Given the description of an element on the screen output the (x, y) to click on. 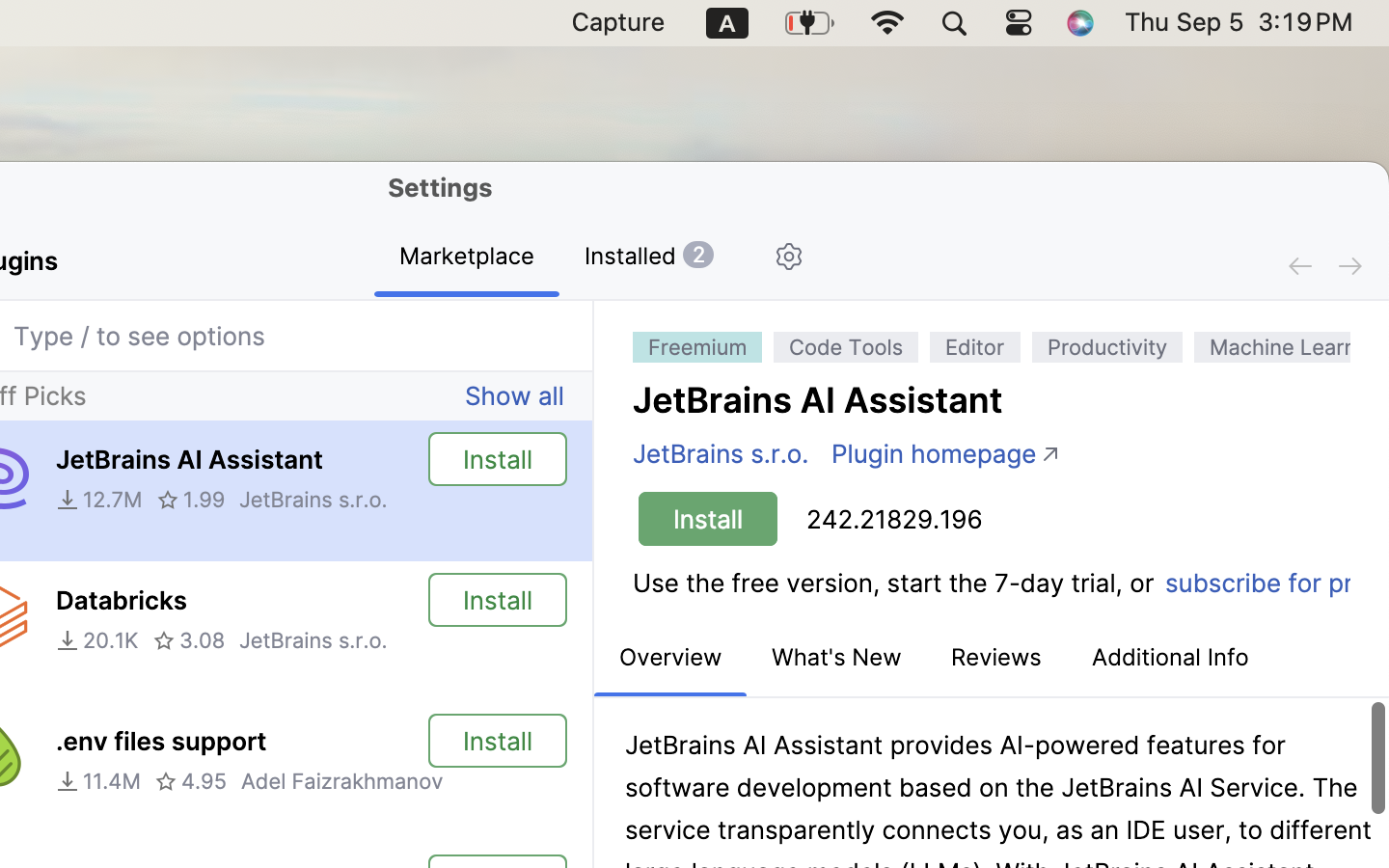
12.7M Element type: AXStaticText (98, 499)
11.4M Element type: AXStaticText (97, 780)
4.95 Element type: AXStaticText (190, 780)
20.1K Element type: AXStaticText (96, 639)
JetBrains AI Assistant Element type: AXStaticText (188, 459)
